Given the description of an element on the screen output the (x, y) to click on. 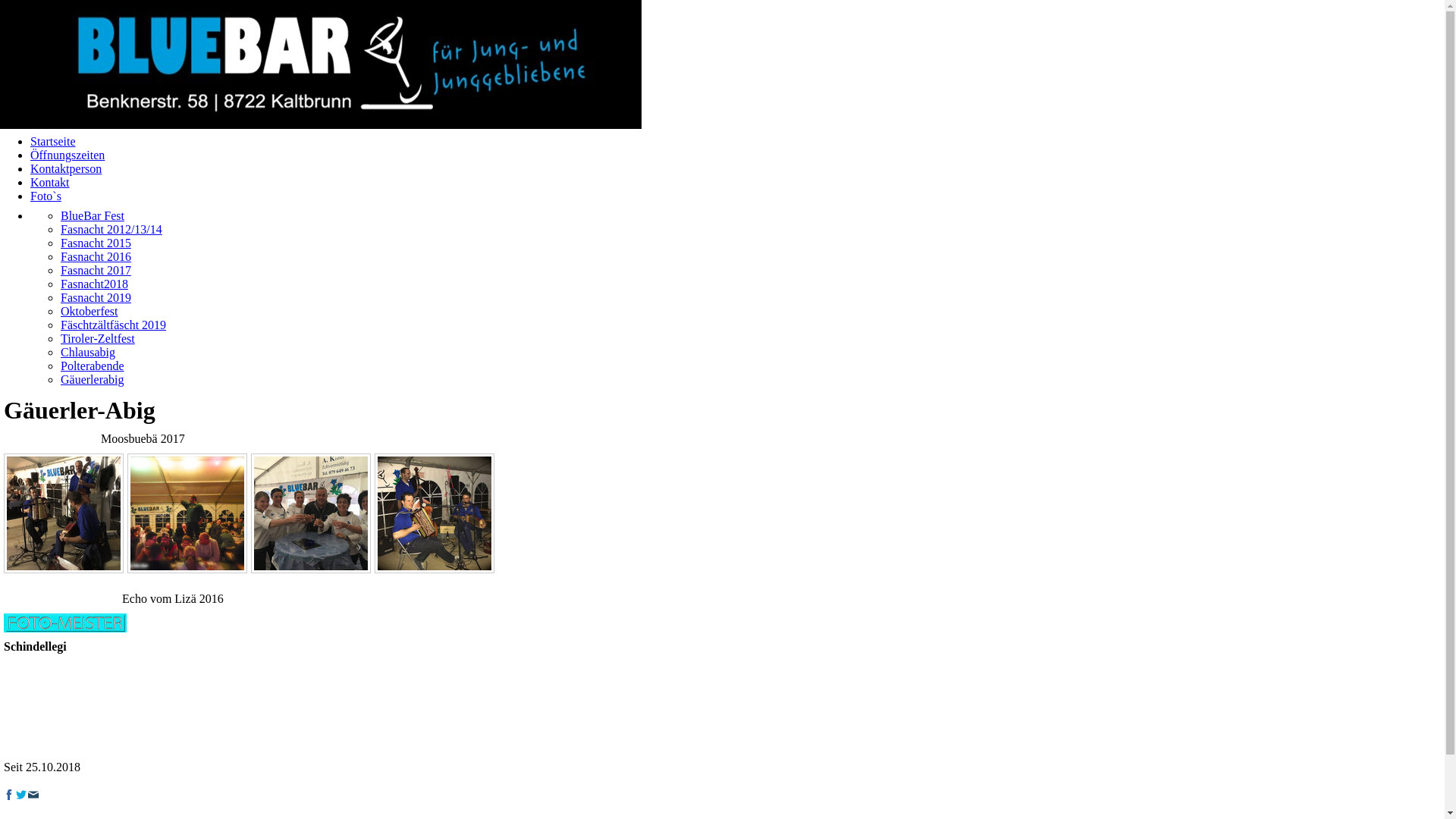
Tiroler-Zeltfest Element type: text (97, 338)
Fasnacht 2016 Element type: text (95, 256)
Polterabende Element type: text (92, 365)
Oktoberfest Element type: text (89, 310)
Twitter Element type: hover (20, 794)
Fasnacht 2015 Element type: text (95, 242)
Chlausabig Element type: text (87, 351)
Kontakt Element type: text (49, 181)
Fasnacht2018 Element type: text (94, 283)
Kontaktperson Element type: text (65, 168)
Fasnacht 2012/13/14 Element type: text (111, 228)
Foto`s Element type: text (45, 195)
E-Mail Element type: hover (33, 794)
Facebook Element type: hover (8, 794)
BlueBar Fest Element type: text (92, 215)
Startseite Element type: text (52, 140)
Fasnacht 2017 Element type: text (95, 269)
Fasnacht 2019 Element type: text (95, 297)
